Given the description of an element on the screen output the (x, y) to click on. 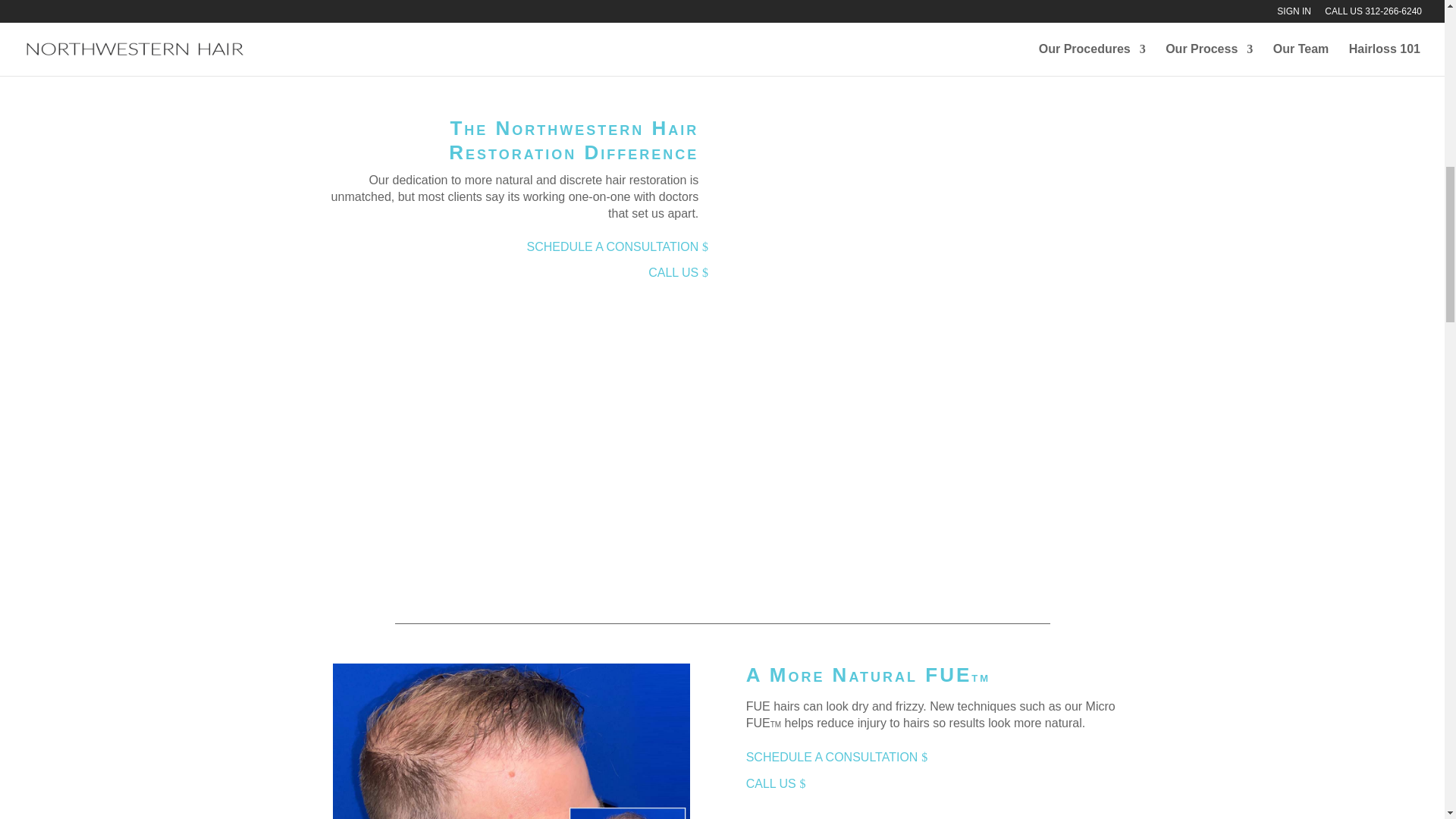
SCHEDULE A CONSULTATION (612, 246)
CALL US (673, 272)
results no shave fue hair replacement chicago IL (511, 741)
CALL US (771, 783)
SCHEDULE A CONSULTATION (832, 757)
